Given the description of an element on the screen output the (x, y) to click on. 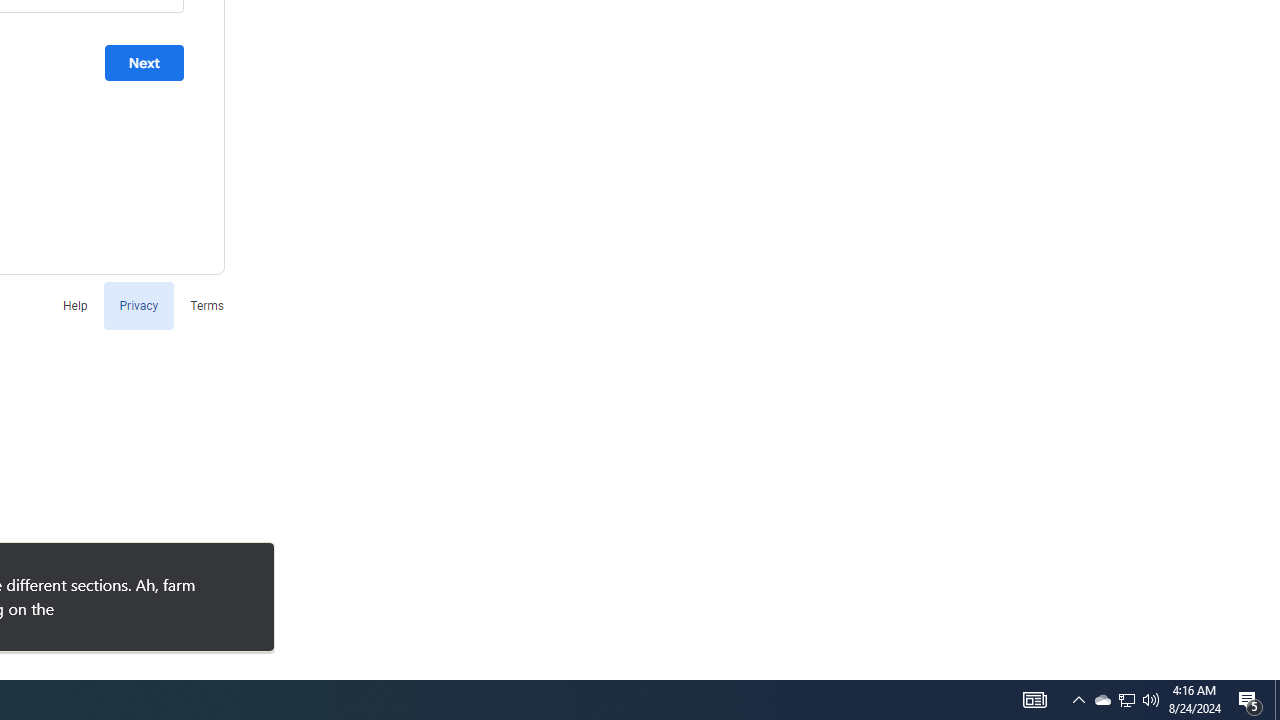
Privacy (138, 304)
Next (143, 63)
Terms (207, 304)
Help (74, 304)
